Given the description of an element on the screen output the (x, y) to click on. 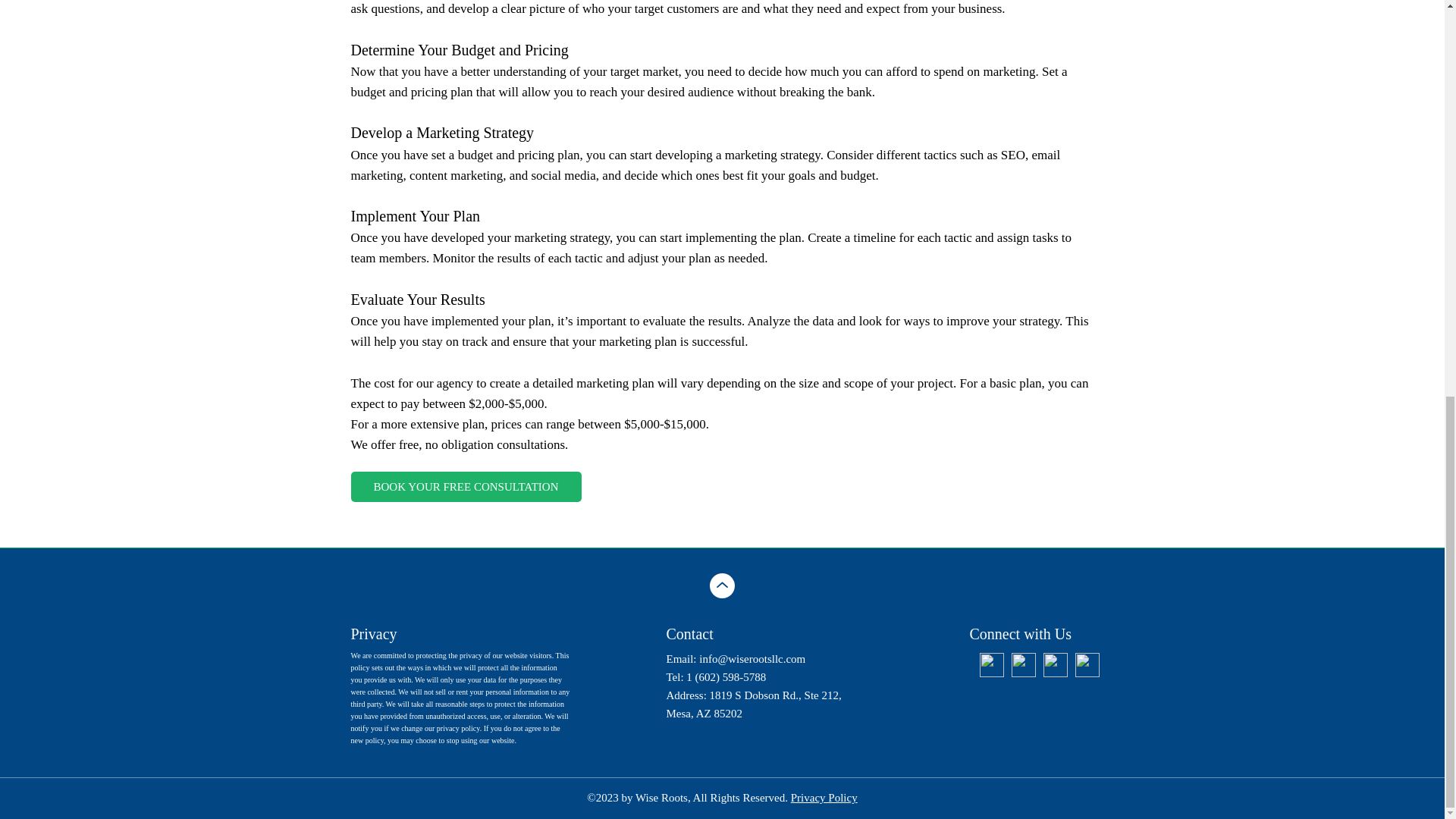
Privacy Policy (823, 797)
BOOK YOUR FREE CONSULTATION (465, 486)
